Given the description of an element on the screen output the (x, y) to click on. 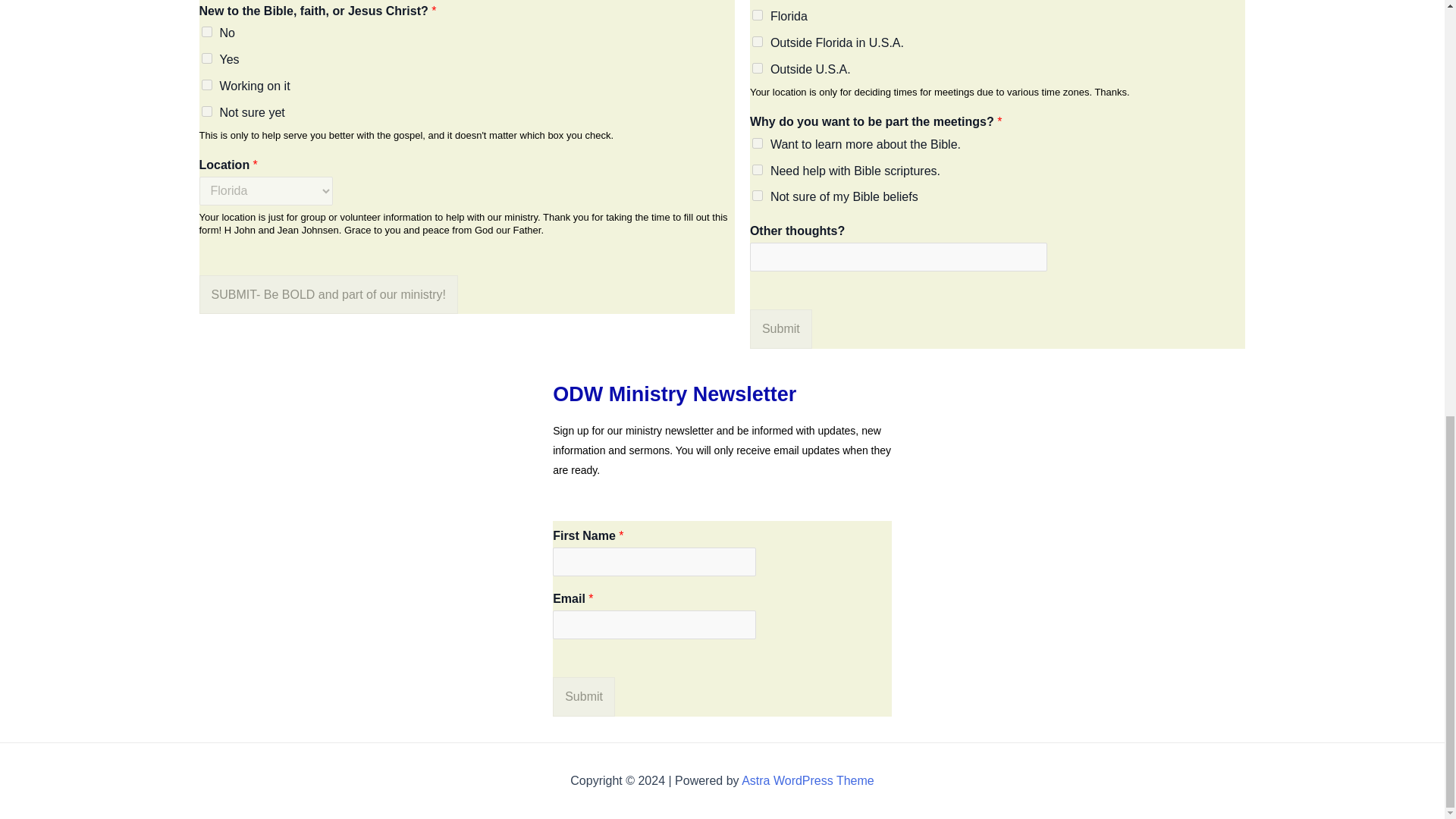
Florida (757, 14)
Working on it (207, 84)
Yes (207, 58)
No (207, 31)
Outside Florida in U.S.A. (757, 41)
Not sure yet (207, 111)
